Given the description of an element on the screen output the (x, y) to click on. 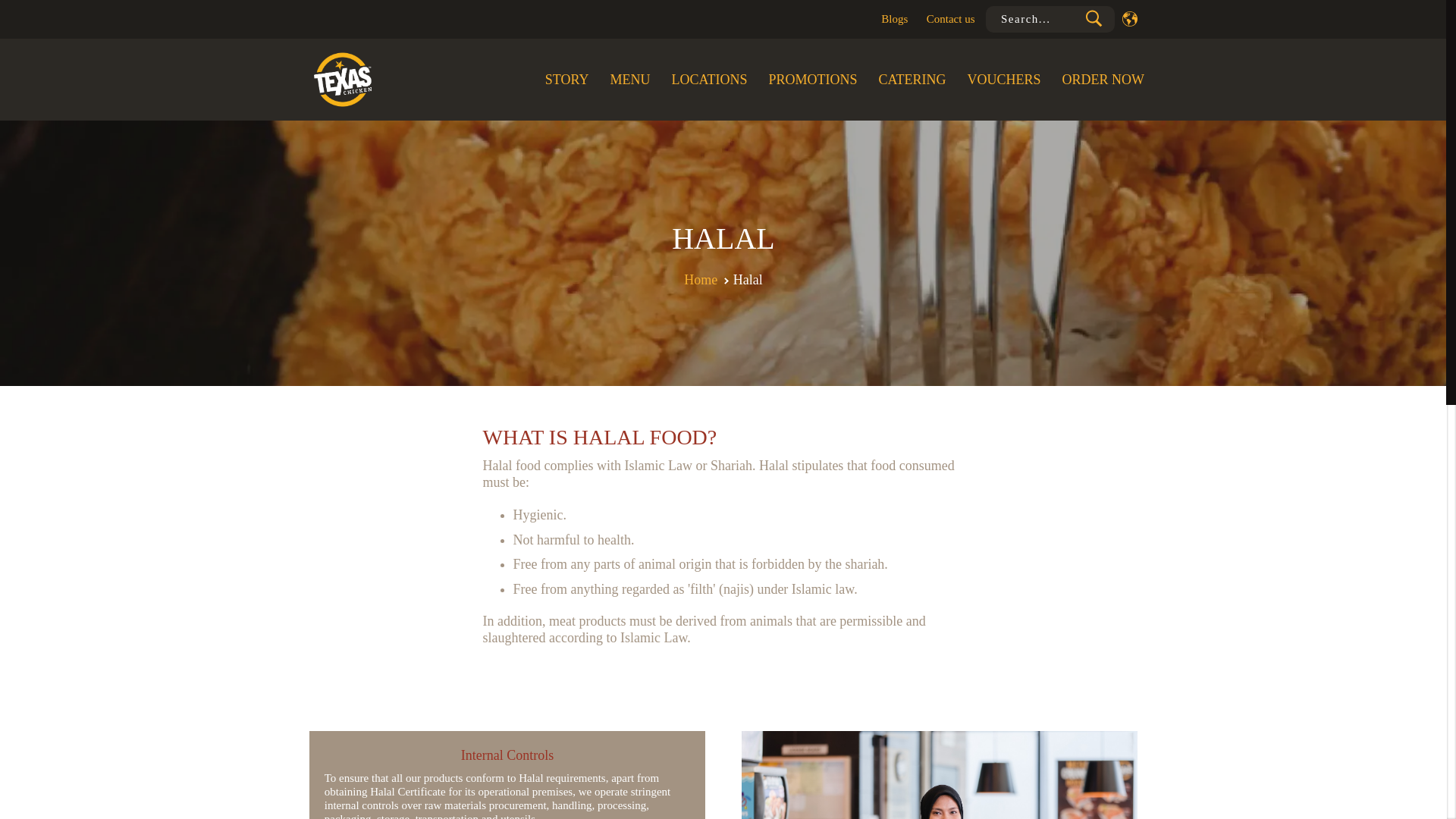
MENU (629, 79)
LOCATIONS (709, 79)
ORDER NOW (1097, 79)
Home (700, 279)
CATERING (911, 79)
Contact us (950, 19)
VOUCHERS (1003, 79)
PROMOTIONS (812, 79)
STORY (566, 79)
